Given the description of an element on the screen output the (x, y) to click on. 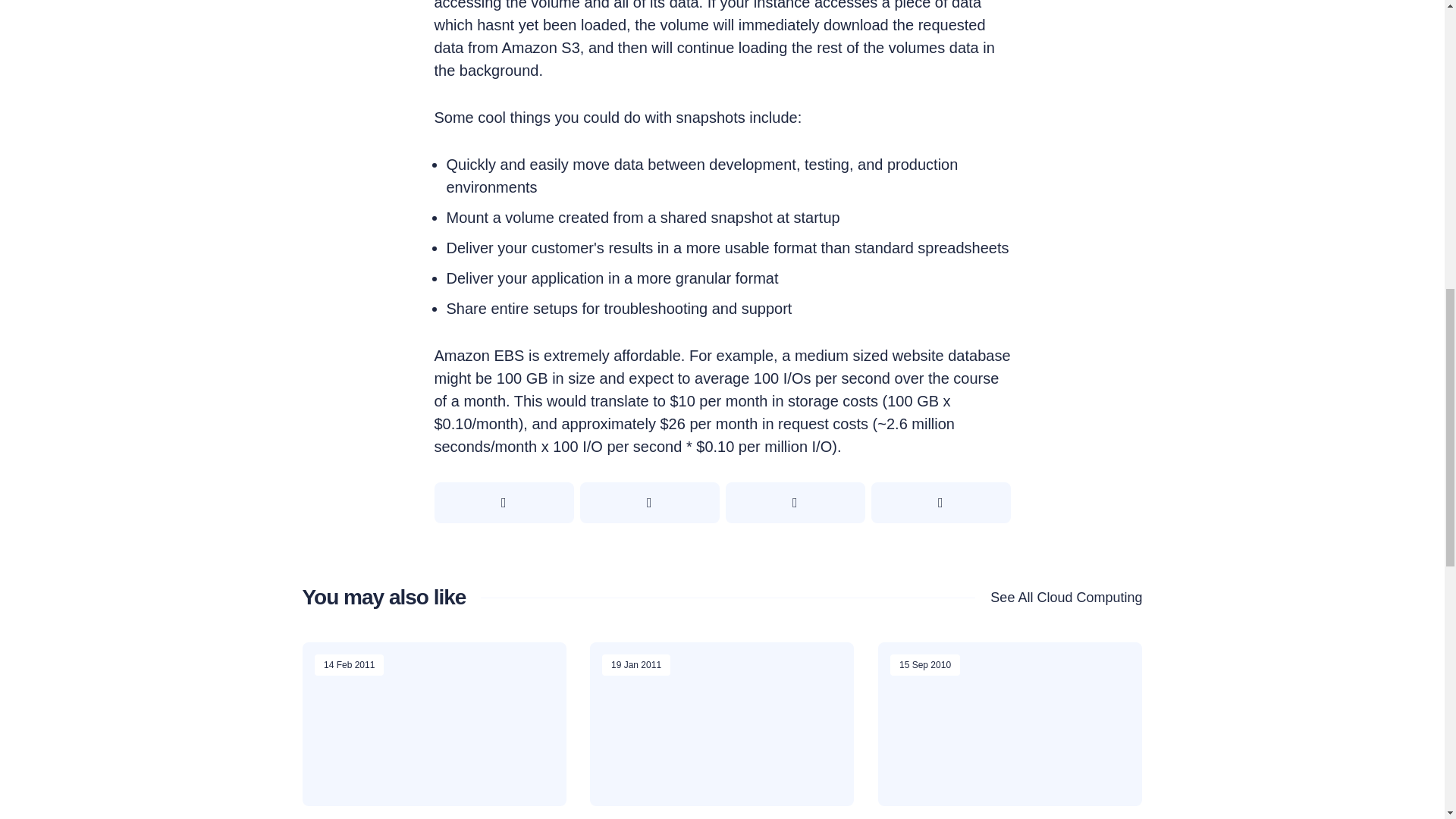
Share on Facebook (649, 502)
Share on LinkedIn (940, 502)
Share on Pinterest (794, 502)
Share on Twitter (503, 502)
See All Cloud Computing (1058, 598)
